Given the description of an element on the screen output the (x, y) to click on. 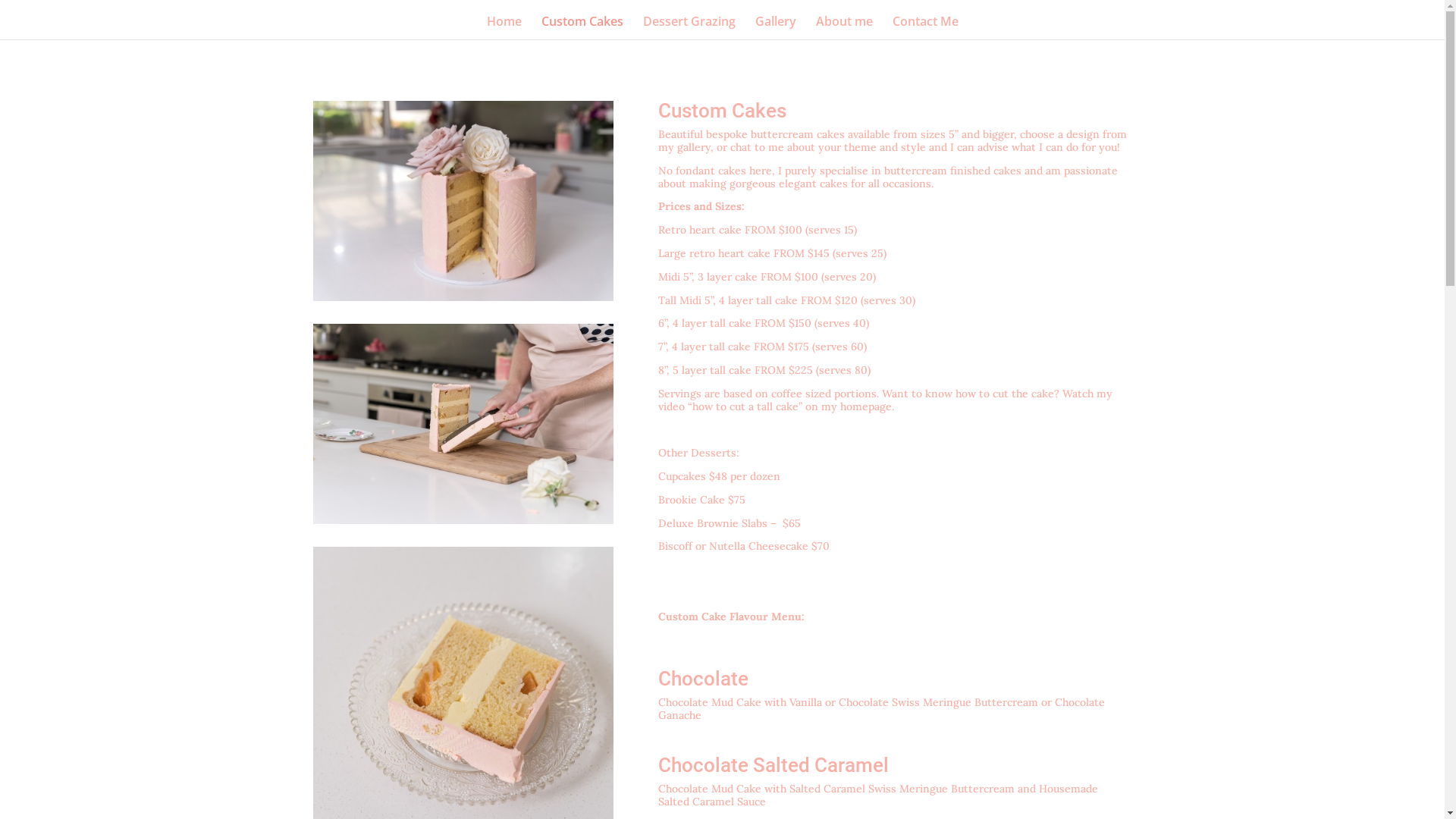
Gallery Element type: text (775, 27)
order custom cake adelaide cupcakes Element type: hover (462, 200)
Contact Me Element type: text (924, 27)
Custom Cakes Element type: text (582, 27)
order custom cake adelaide cupcakes Element type: hover (462, 423)
About me Element type: text (843, 27)
Home Element type: text (503, 27)
Dessert Grazing Element type: text (689, 27)
